Given the description of an element on the screen output the (x, y) to click on. 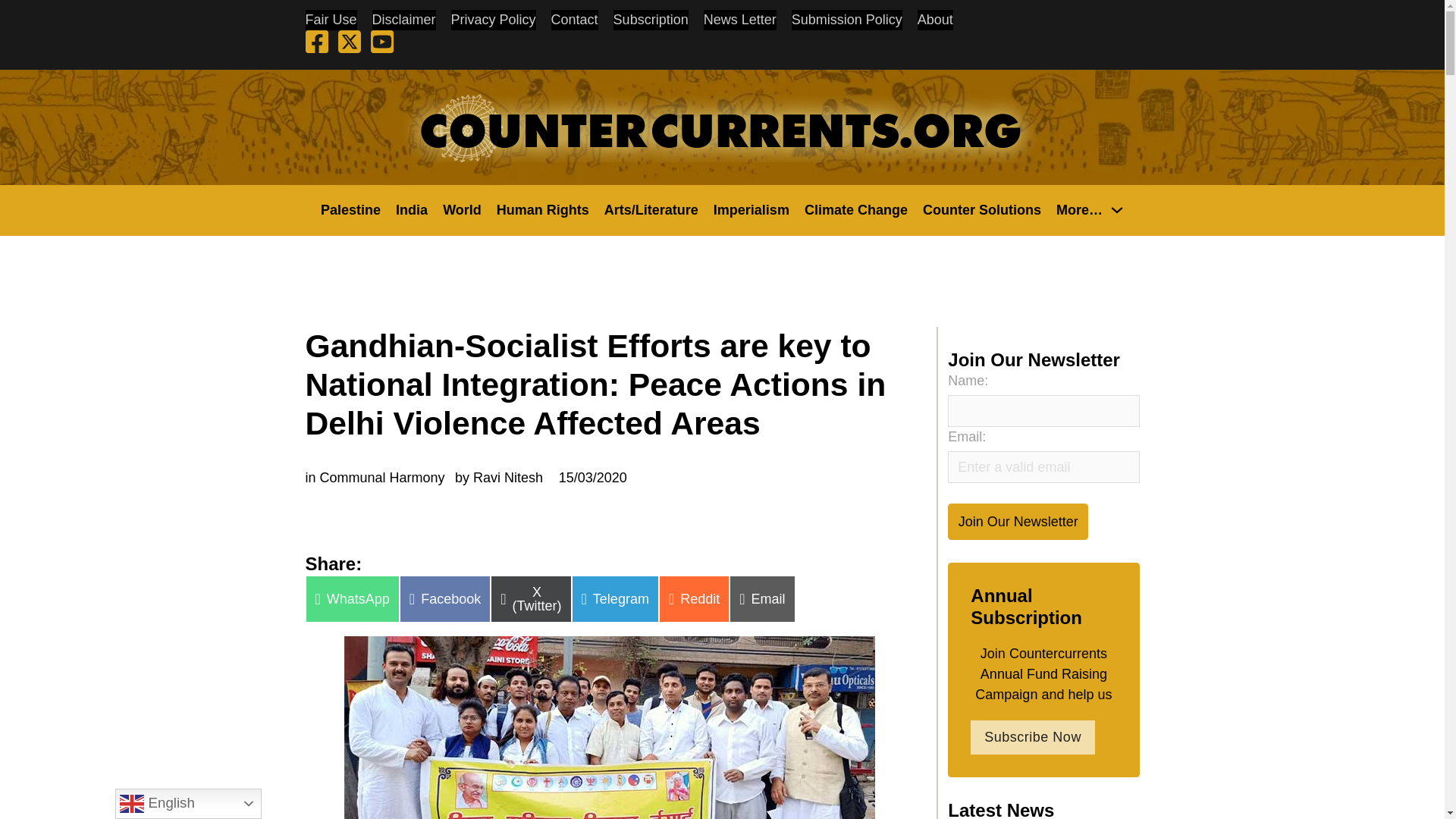
Privacy Policy (493, 19)
Fair Use (330, 19)
Submission Policy (847, 19)
Palestine (350, 209)
Disclaimer (403, 19)
World (461, 209)
About (935, 19)
Subscription (650, 19)
Human Rights (542, 209)
